Given the description of an element on the screen output the (x, y) to click on. 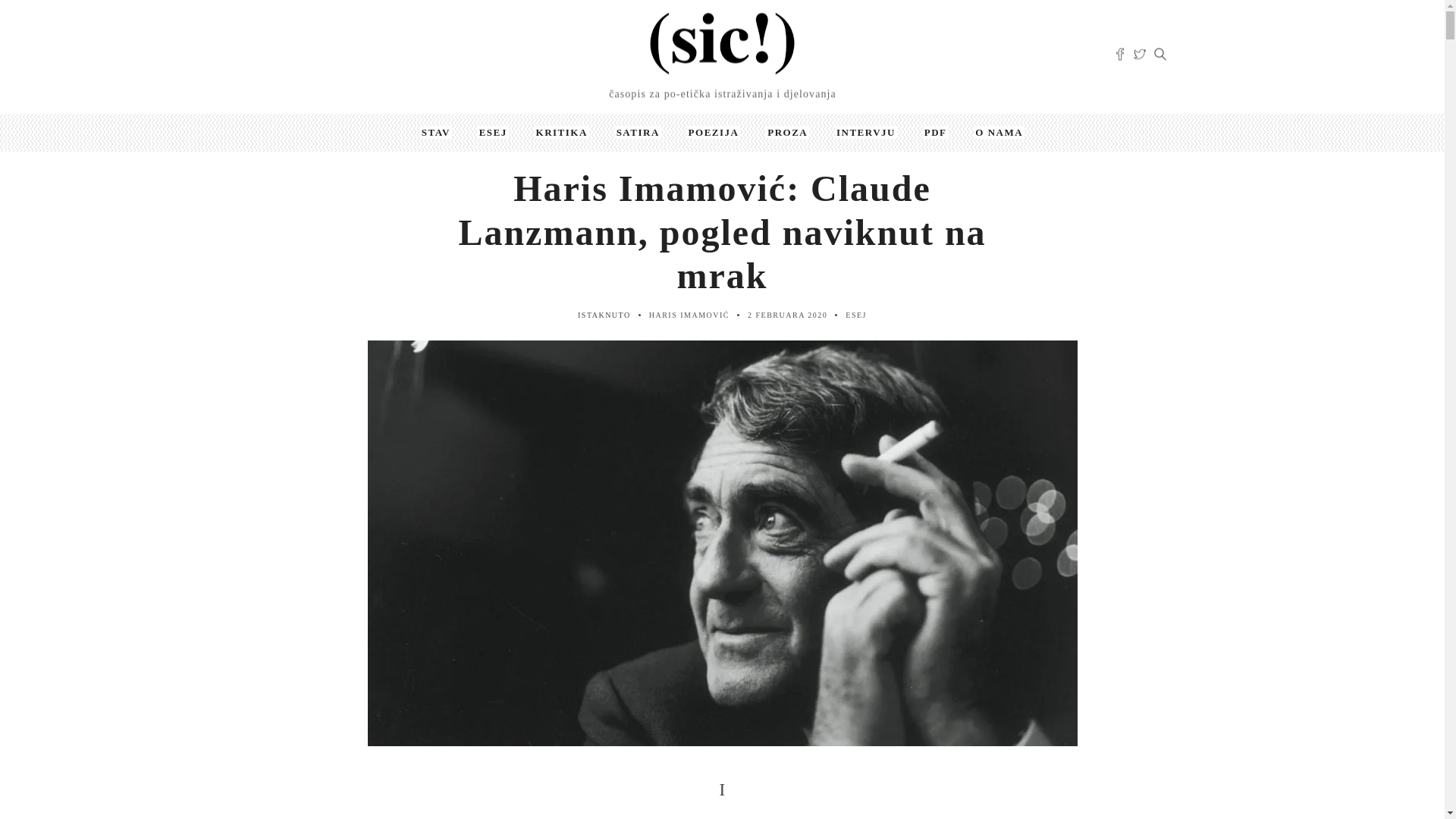
ESEJ Element type: text (492, 131)
2 FEBRUARA 2020 Element type: text (787, 314)
INTERVJU Element type: text (865, 131)
PDF Element type: text (935, 131)
SATIRA Element type: text (638, 131)
STAV Element type: text (435, 131)
KRITIKA Element type: text (561, 131)
O NAMA Element type: text (998, 131)
POEZIJA Element type: text (713, 131)
PROZA Element type: text (787, 131)
ESEJ Element type: text (855, 314)
